Given the description of an element on the screen output the (x, y) to click on. 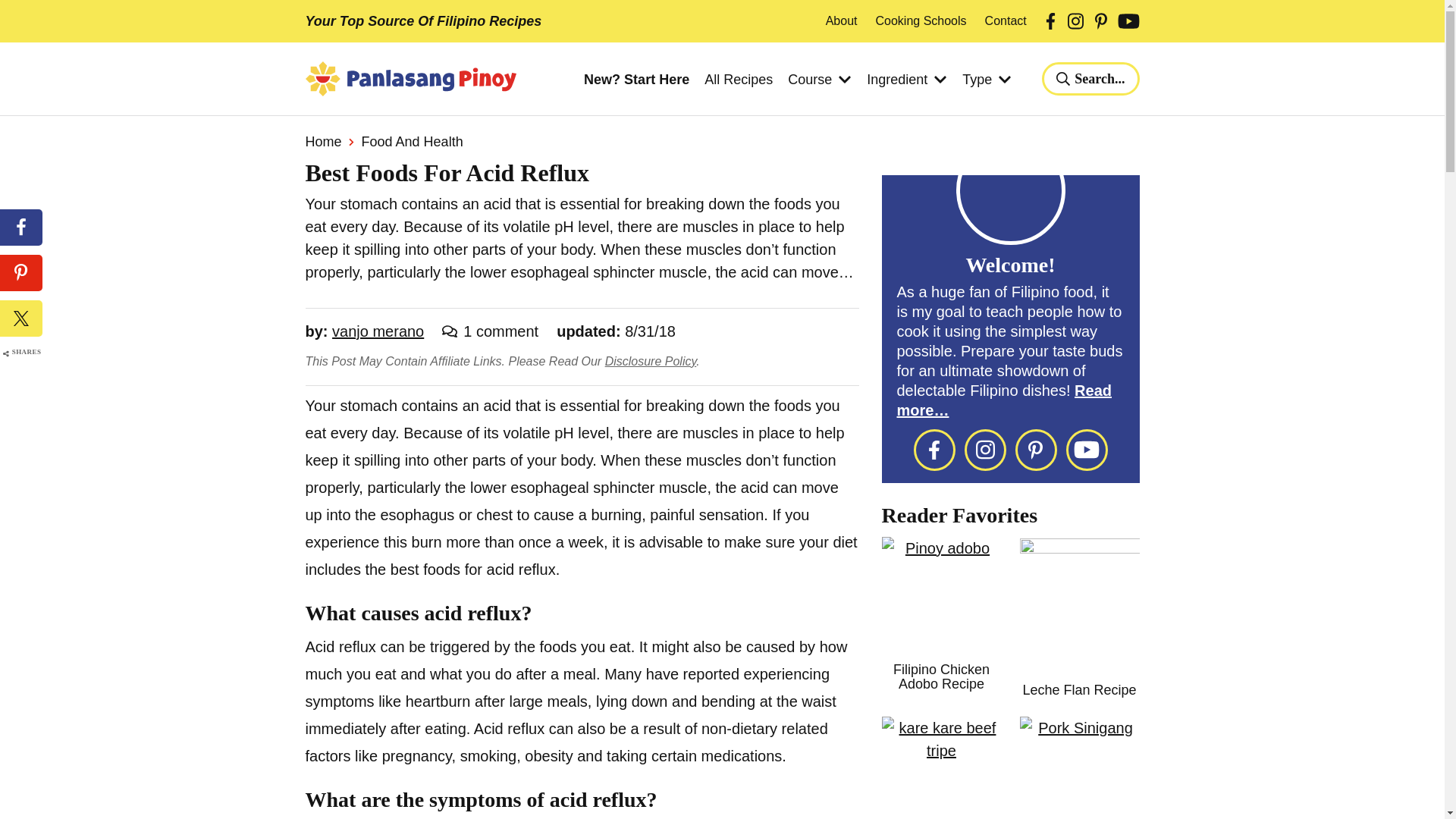
Share on Twitter (21, 318)
About (841, 21)
Instagram (1075, 21)
Panlasang Pinoy (409, 78)
YouTube (1129, 21)
Your Top Source Of Filipino Recipes (422, 20)
Share on Facebook (21, 227)
Facebook (21, 227)
Food And Health (412, 141)
